Given the description of an element on the screen output the (x, y) to click on. 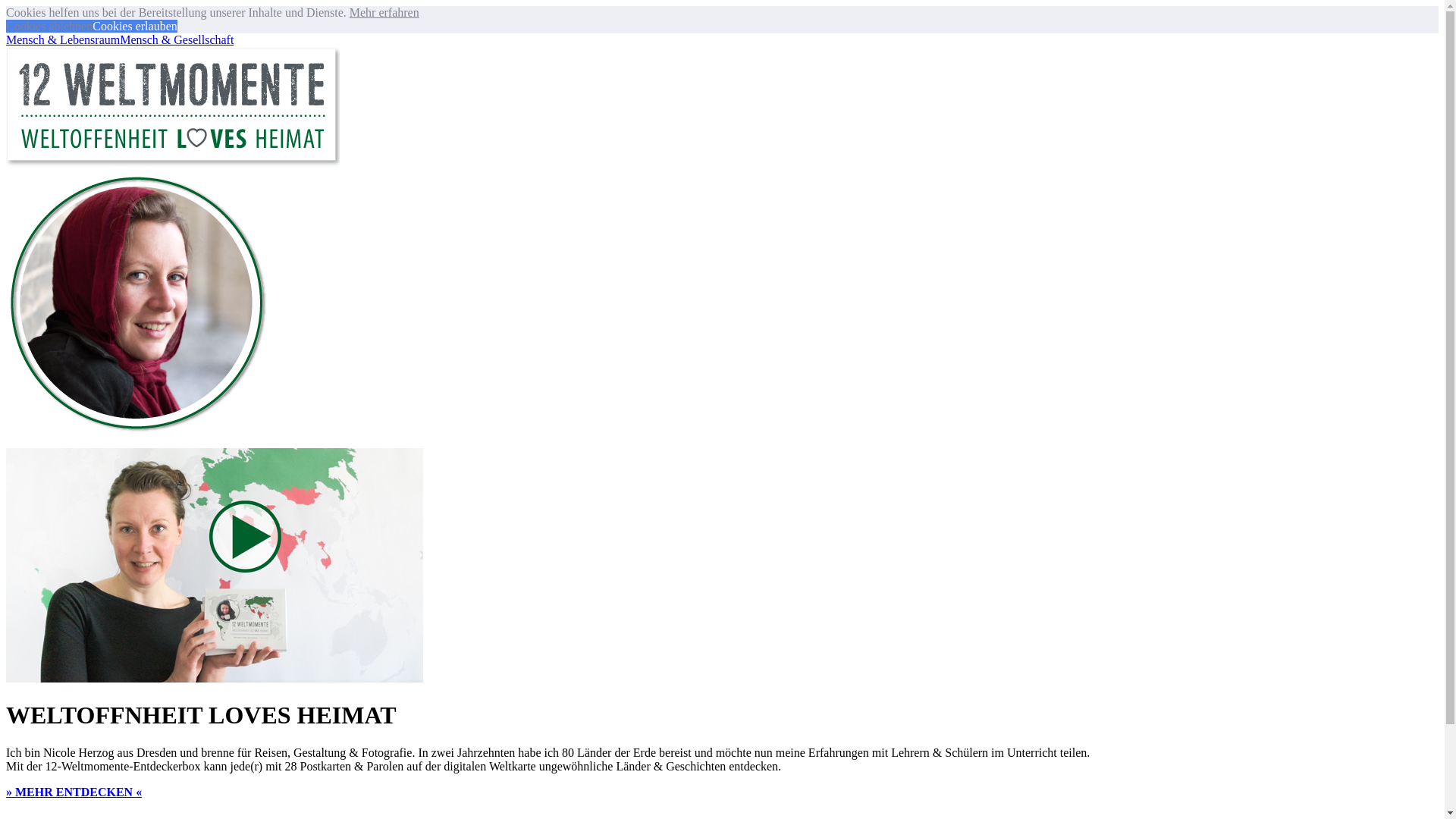
Cookies ablehnen Element type: text (49, 25)
Mensch & Lebensraum Element type: text (62, 39)
externer Link zu youtube.com Element type: hover (214, 677)
Cookies erlauben Element type: text (134, 25)
Mensch & Gesellschaft Element type: text (176, 39)
Mehr erfahren Element type: text (384, 12)
